Given the description of an element on the screen output the (x, y) to click on. 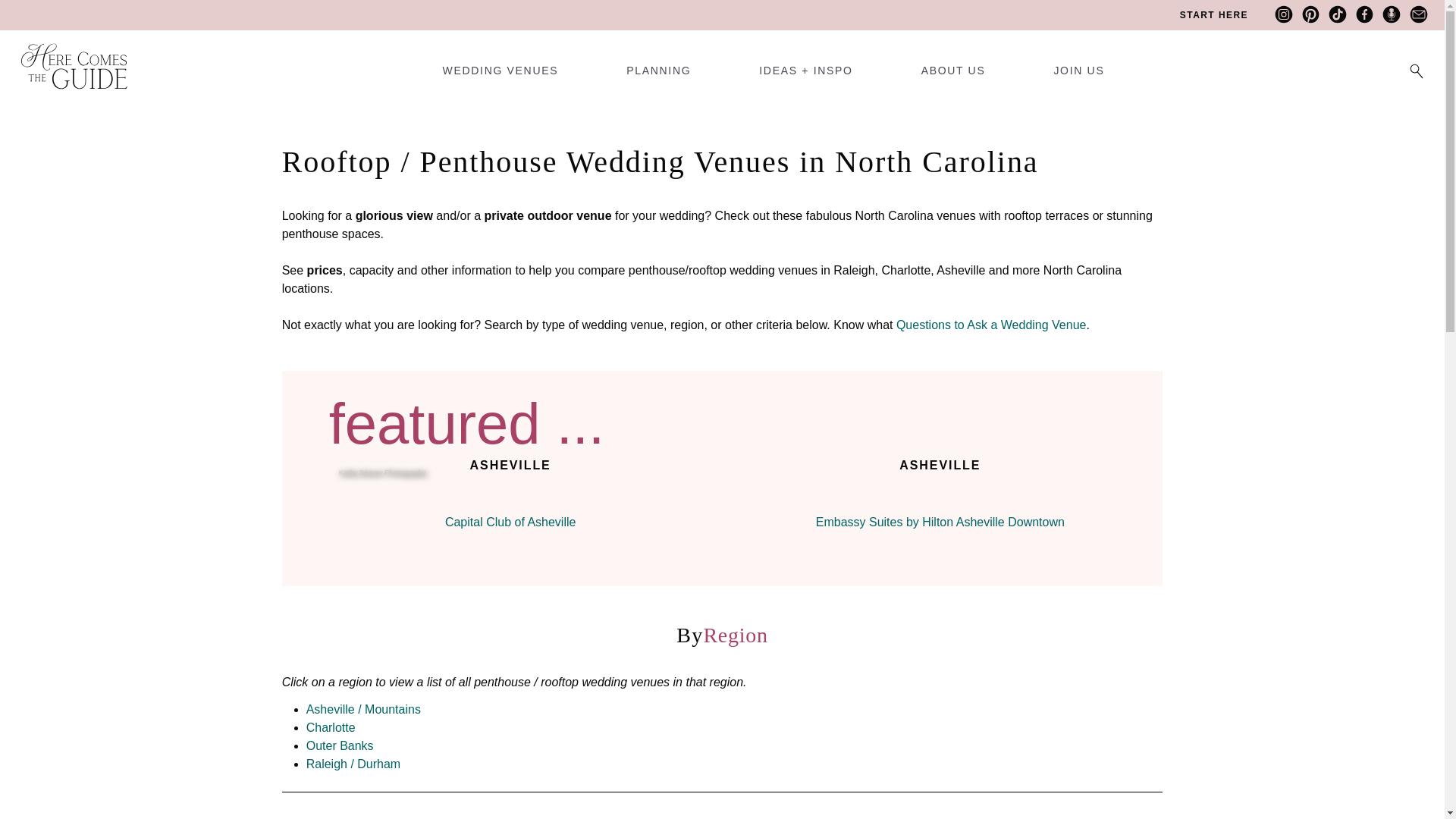
Embassy Suites by Hilton Asheville Downtown (939, 496)
JOIN US (1078, 75)
PLANNING (658, 75)
Capital Club of Asheville (510, 521)
Capital Club of Asheville (509, 496)
ABOUT US (953, 75)
WEDDING VENUES (500, 75)
START HERE (1213, 15)
Here Comes the Guide (63, 56)
Embassy Suites by Hilton Asheville Downtown (939, 521)
